Given the description of an element on the screen output the (x, y) to click on. 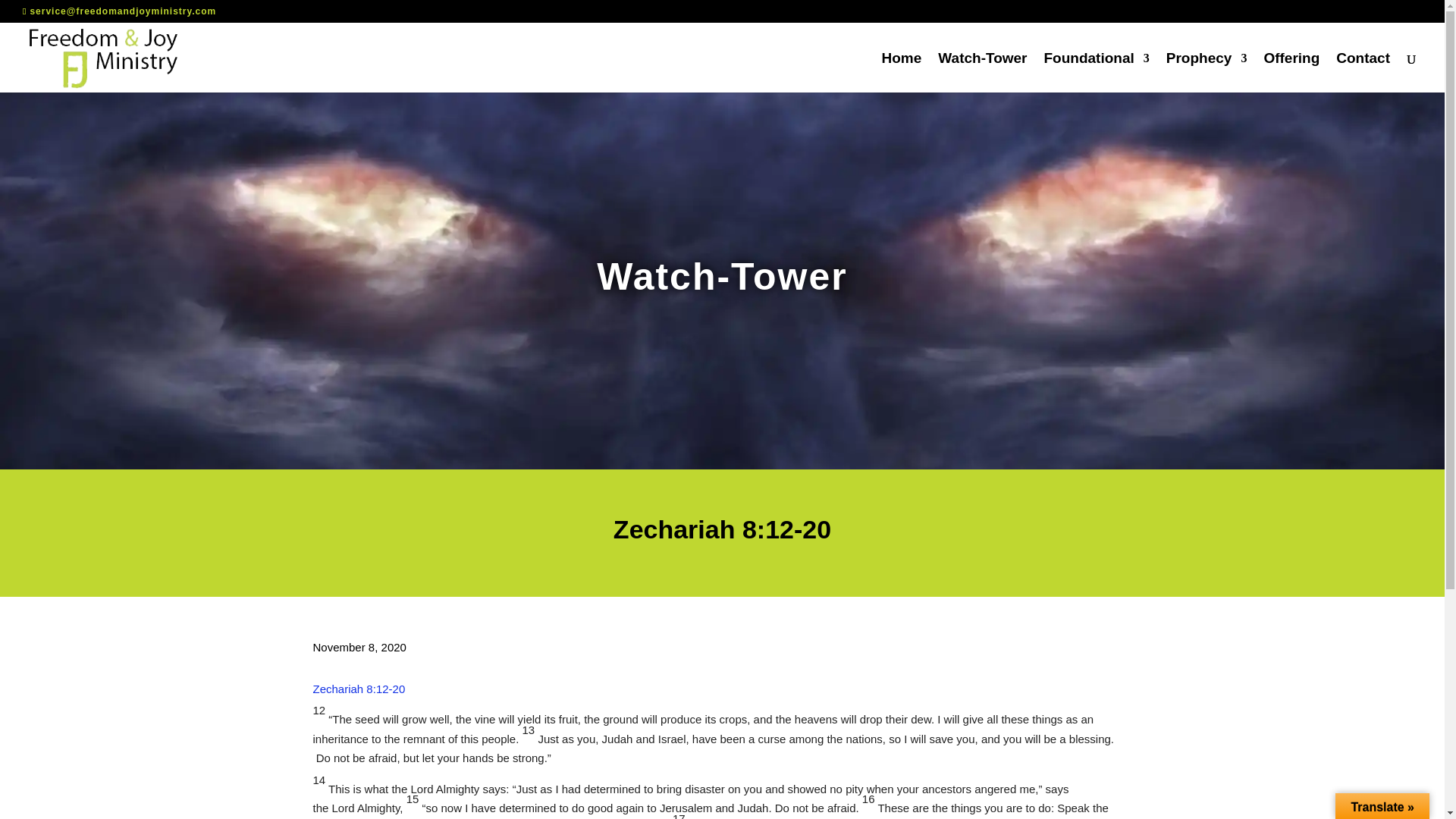
Zechariah 8:12-20 (358, 688)
Foundational (1096, 72)
Offering (1291, 72)
Home (901, 72)
Contact (1363, 72)
Prophecy (1206, 72)
Watch-Tower (981, 72)
